Given the description of an element on the screen output the (x, y) to click on. 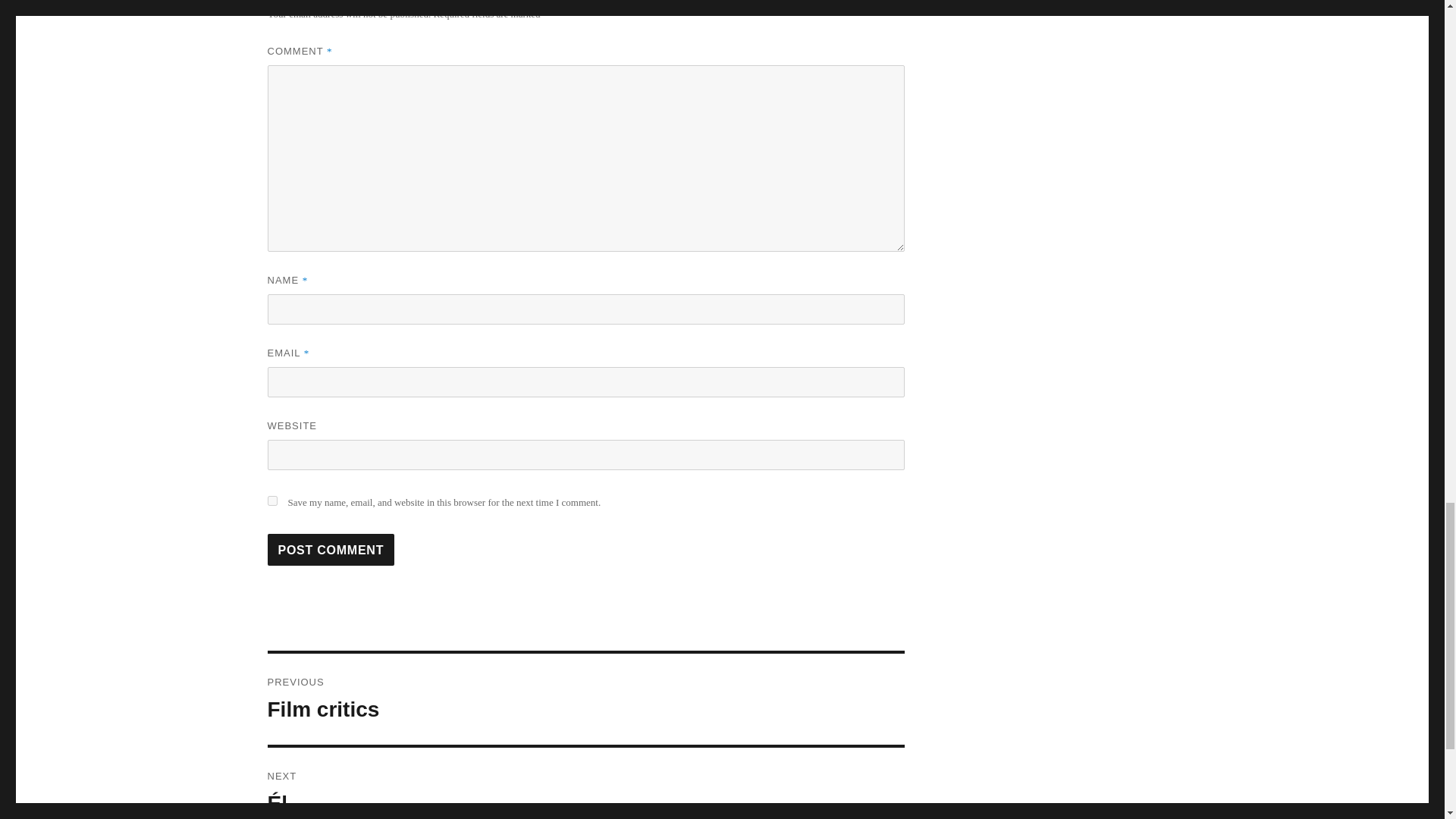
Post Comment (585, 698)
Post Comment (330, 549)
yes (330, 549)
